Given the description of an element on the screen output the (x, y) to click on. 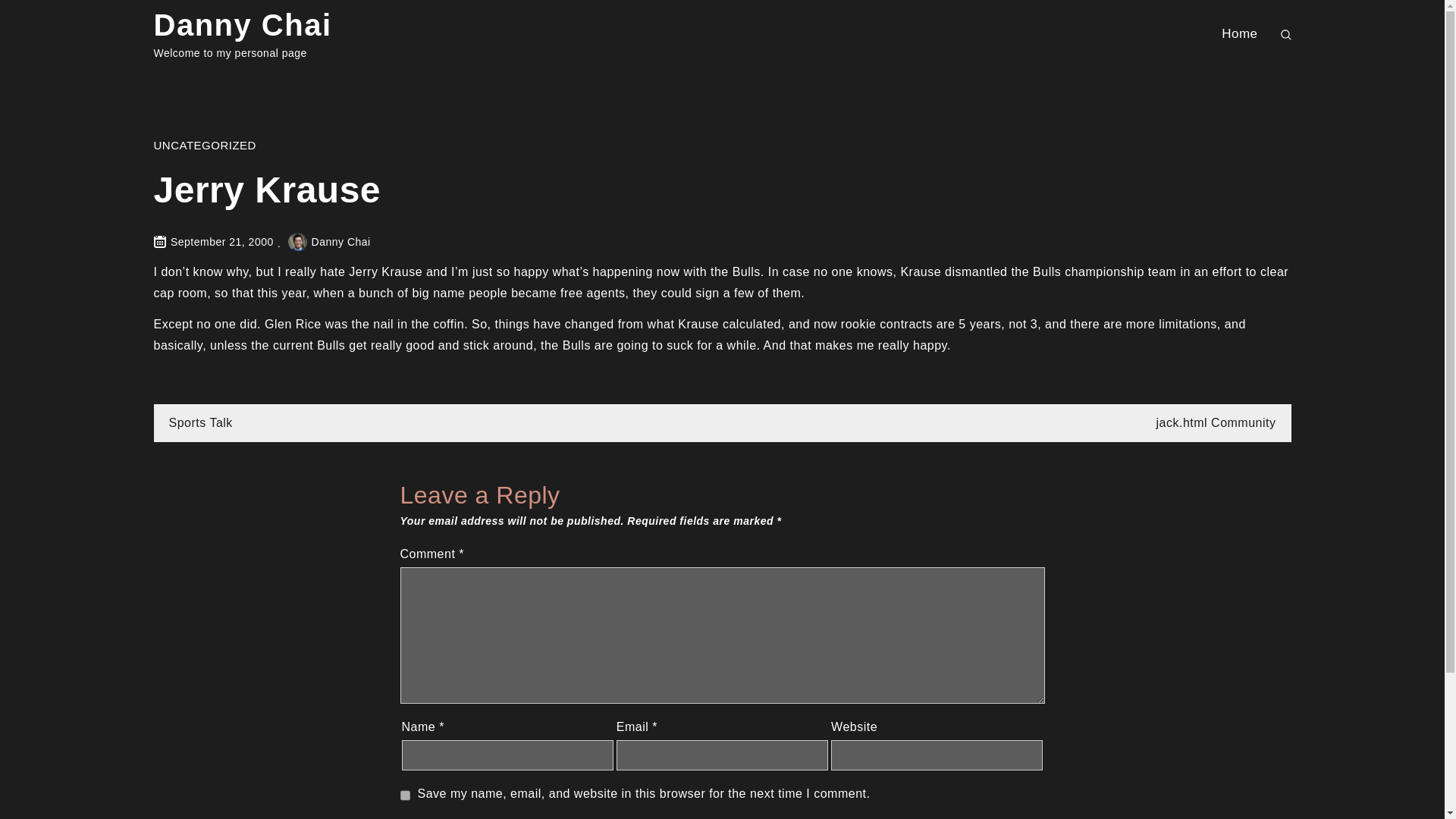
Danny Chai (241, 24)
jack.html Community (1216, 422)
UNCATEGORIZED (204, 144)
Sports Talk (199, 422)
Danny Chai (329, 241)
Home (1239, 33)
September 21, 2000 (221, 241)
